Given the description of an element on the screen output the (x, y) to click on. 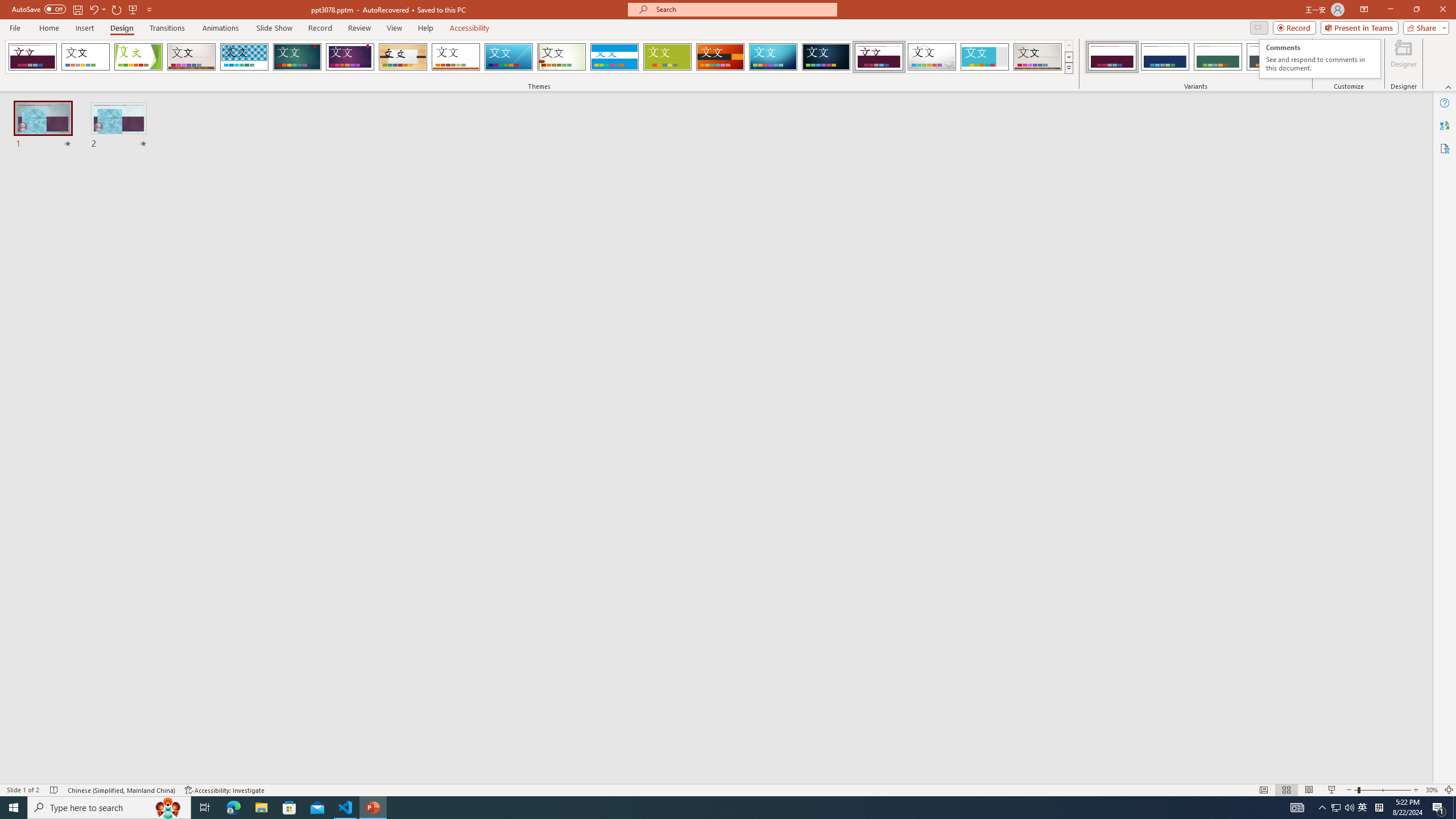
Office Theme (85, 56)
Basis (667, 56)
